Given the description of an element on the screen output the (x, y) to click on. 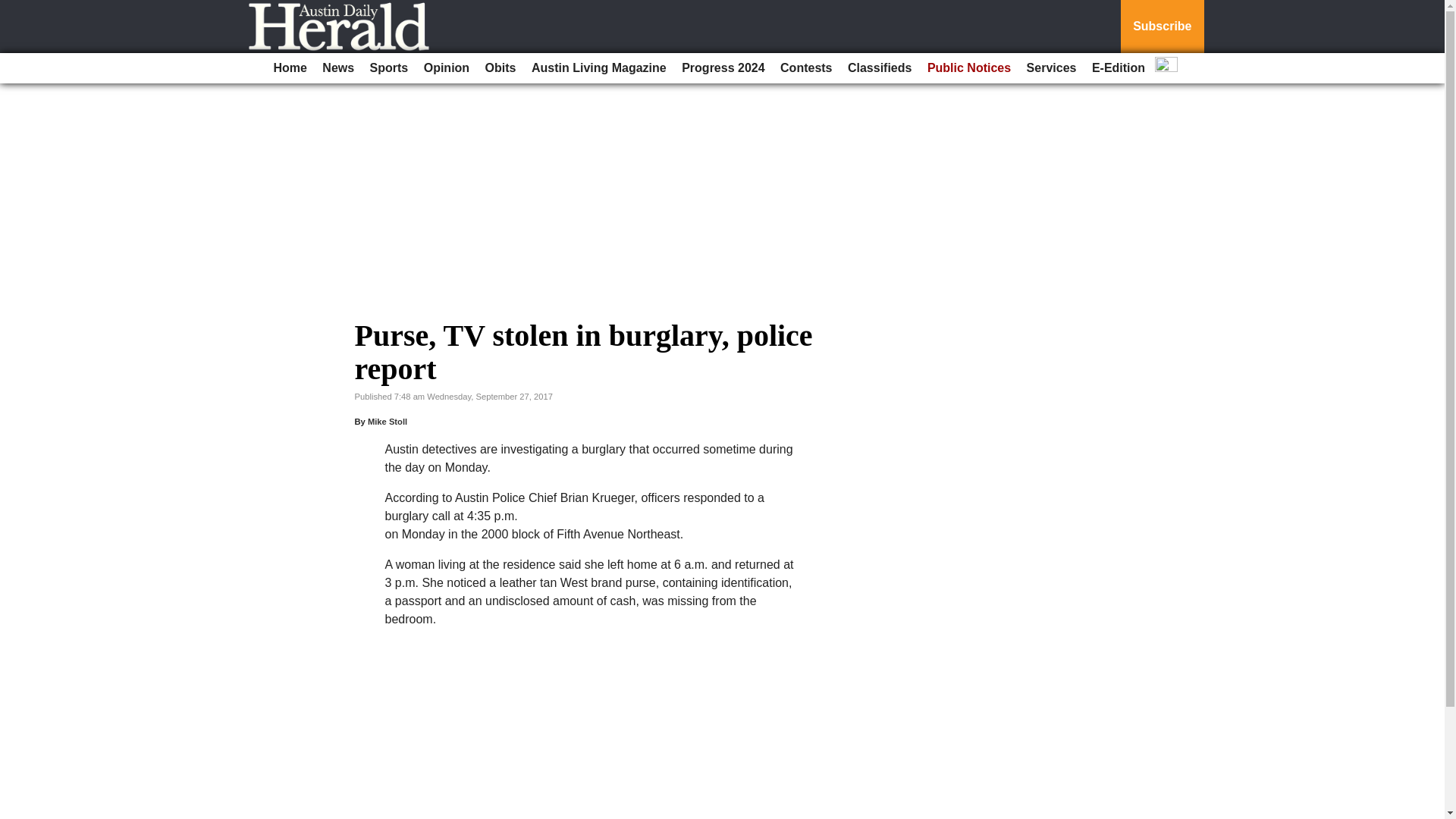
Austin Living Magazine (598, 68)
Classifieds (879, 68)
Progress 2024 (722, 68)
Home (289, 68)
Subscribe (1162, 26)
Sports (389, 68)
Contests (806, 68)
Obits (500, 68)
Opinion (446, 68)
Public Notices (968, 68)
News (337, 68)
Services (1051, 68)
